Given the description of an element on the screen output the (x, y) to click on. 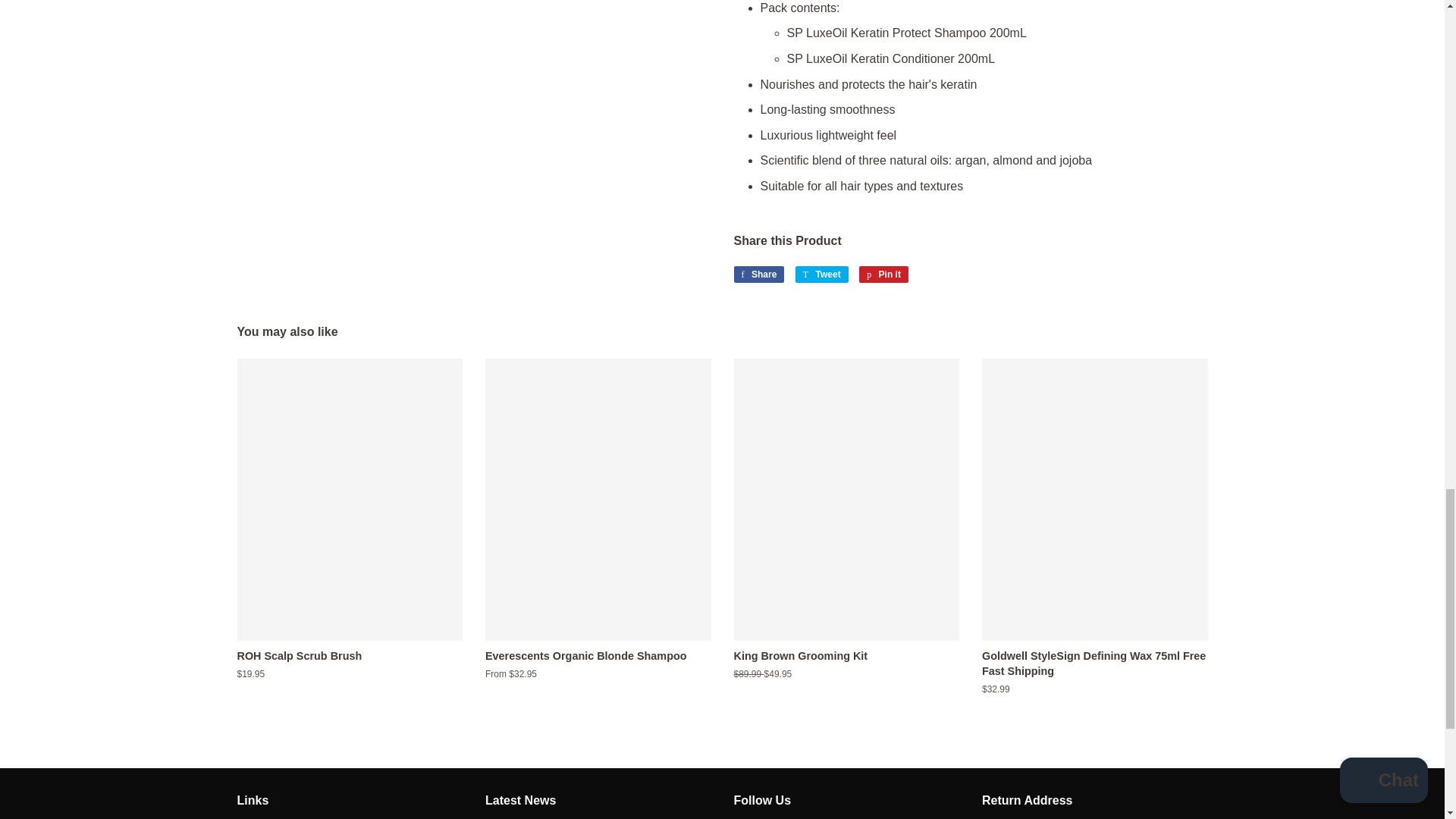
Share on Facebook (758, 274)
Pin on Pinterest (883, 274)
Tweet on Twitter (821, 274)
